Given the description of an element on the screen output the (x, y) to click on. 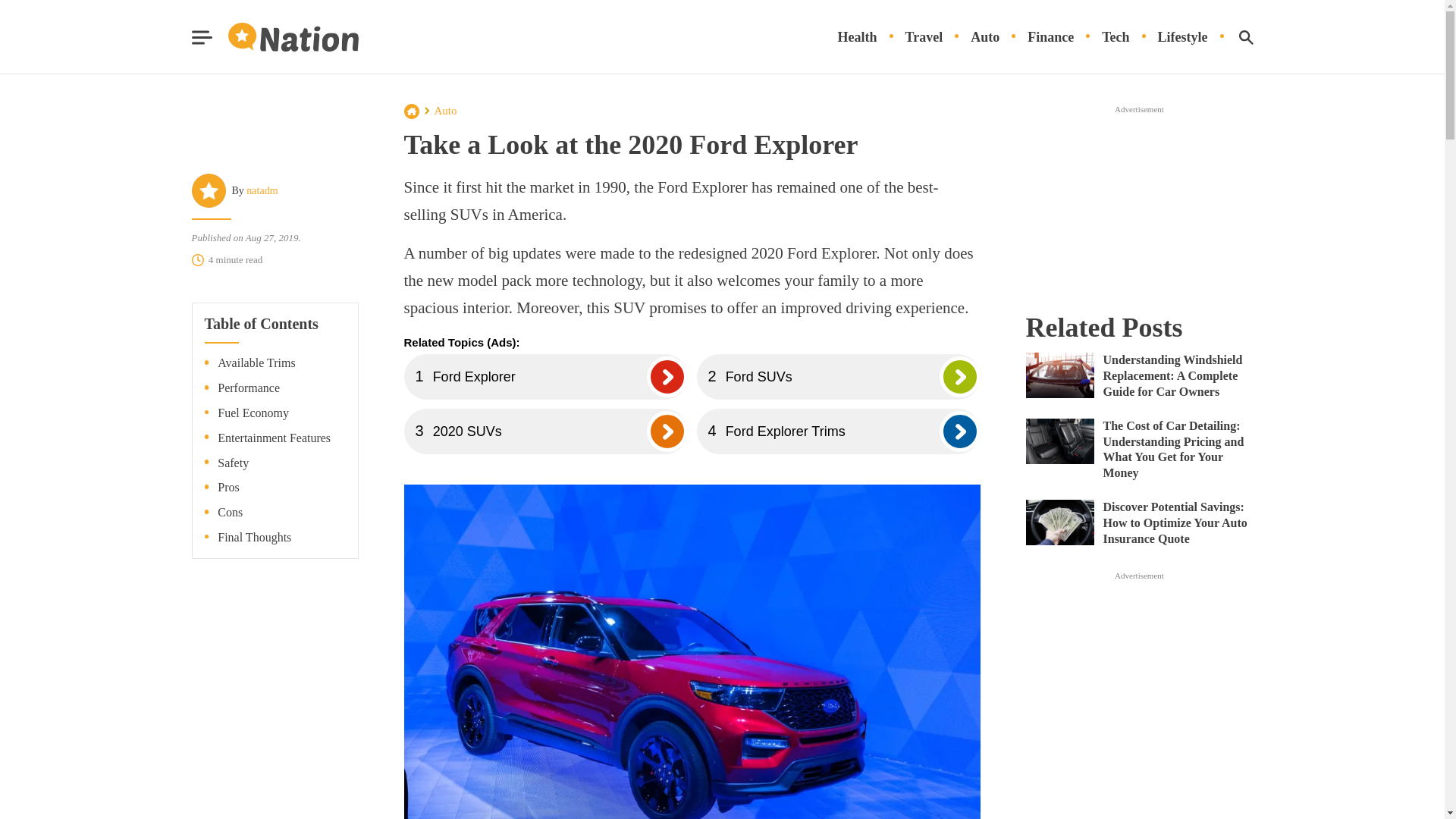
Cons (229, 512)
Lifestyle (1182, 37)
Available Trims (255, 363)
Ford SUVs (837, 376)
Auto (445, 110)
Pros (227, 487)
Ford Explorer (545, 376)
Home (411, 111)
2020 SUVs (545, 431)
Entertainment Features (273, 438)
